Given the description of an element on the screen output the (x, y) to click on. 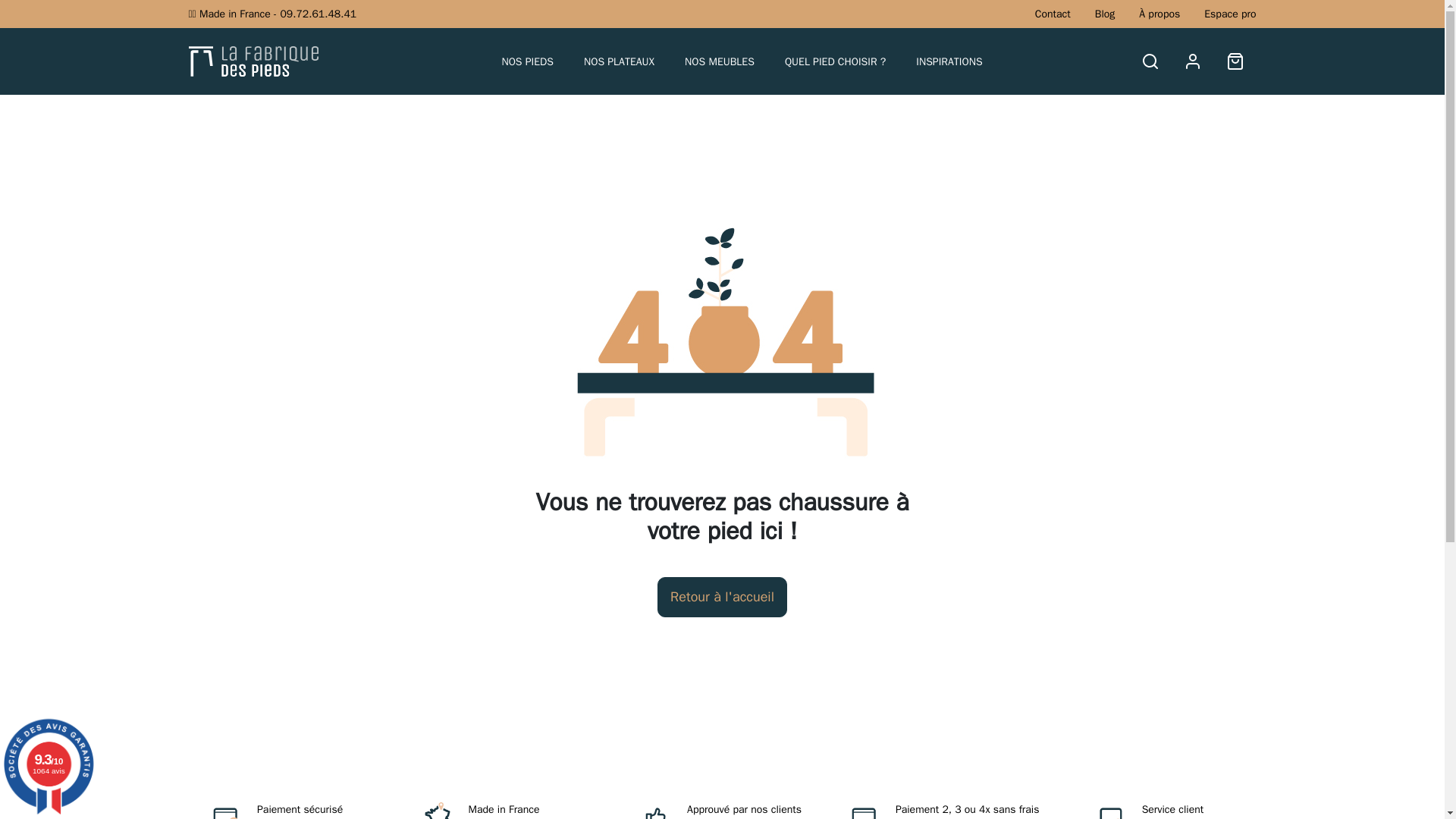
Contact (1052, 13)
Blog (1104, 13)
Identifiez-vous (1191, 61)
Espace pro (1229, 13)
